Given the description of an element on the screen output the (x, y) to click on. 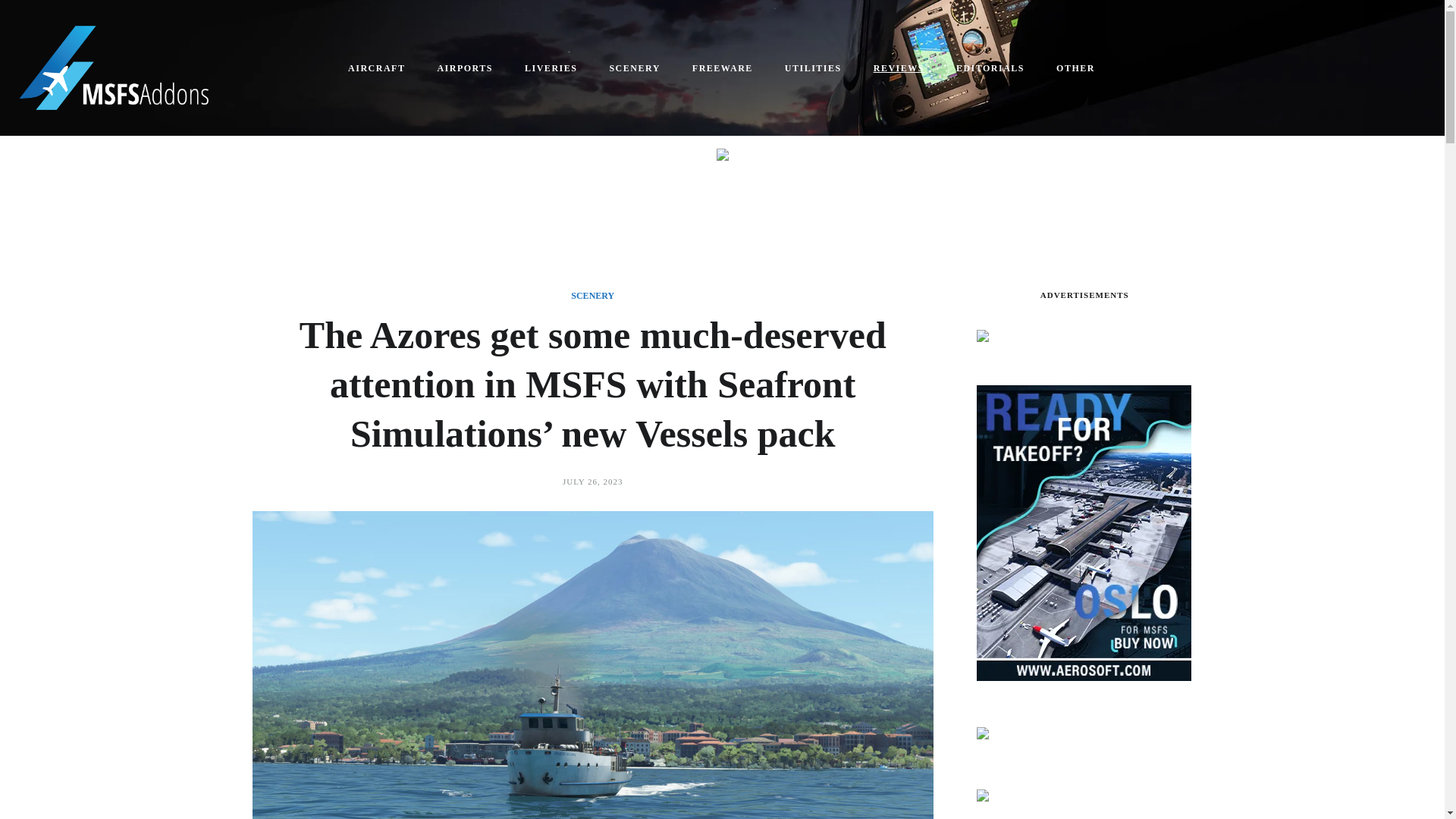
OTHER (1076, 68)
AIRPORTS (465, 68)
AIRCRAFT (377, 68)
SCENERY (592, 295)
LIVERIES (551, 68)
UTILITIES (814, 68)
REVIEWS (899, 68)
EDITORIALS (990, 68)
SCENERY (635, 68)
FREEWARE (723, 68)
